Given the description of an element on the screen output the (x, y) to click on. 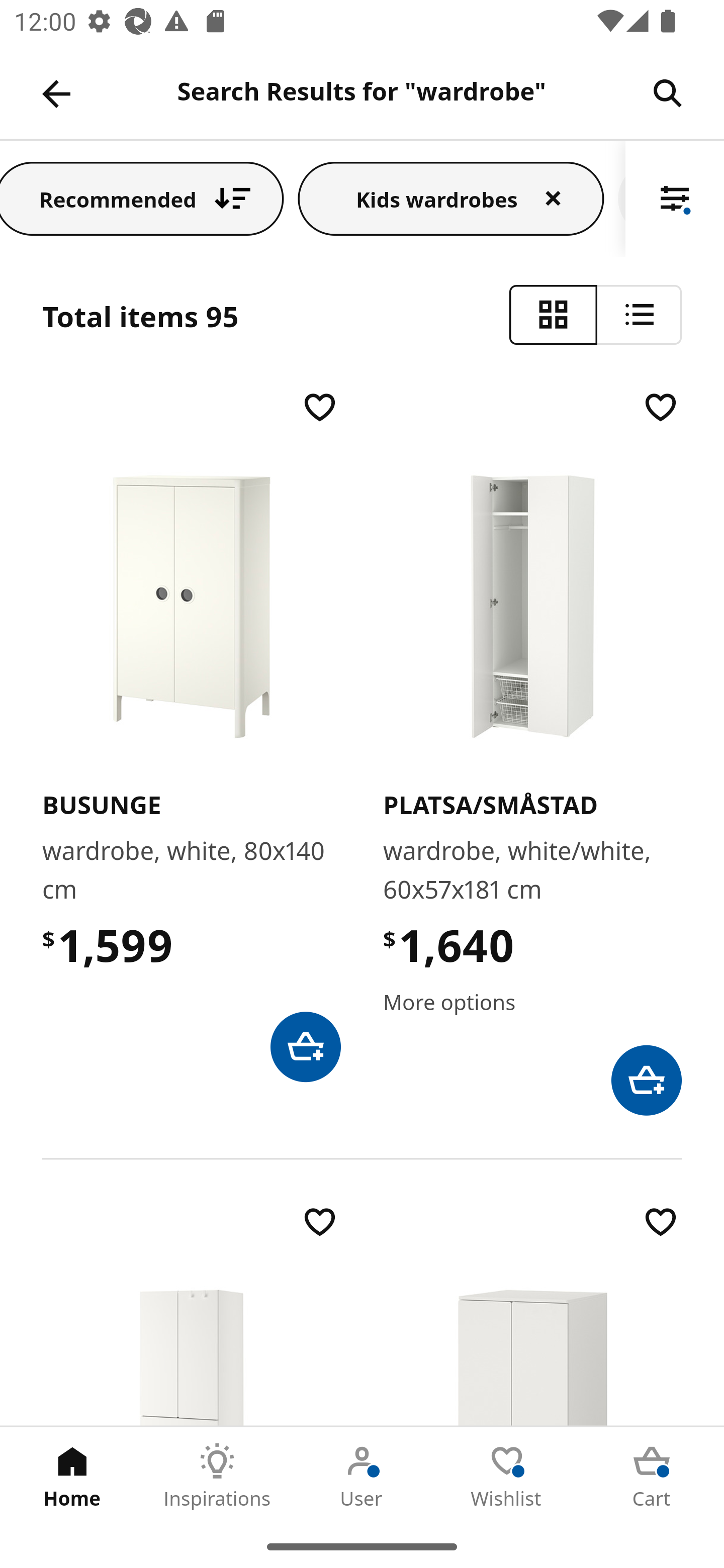
Recommended (141, 198)
Kids wardrobes (450, 198)
​B​U​S​U​N​G​E​
wardrobe, white, 80x140 cm
$
1,599 (191, 734)
Home
Tab 1 of 5 (72, 1476)
Inspirations
Tab 2 of 5 (216, 1476)
User
Tab 3 of 5 (361, 1476)
Wishlist
Tab 4 of 5 (506, 1476)
Cart
Tab 5 of 5 (651, 1476)
